Given the description of an element on the screen output the (x, y) to click on. 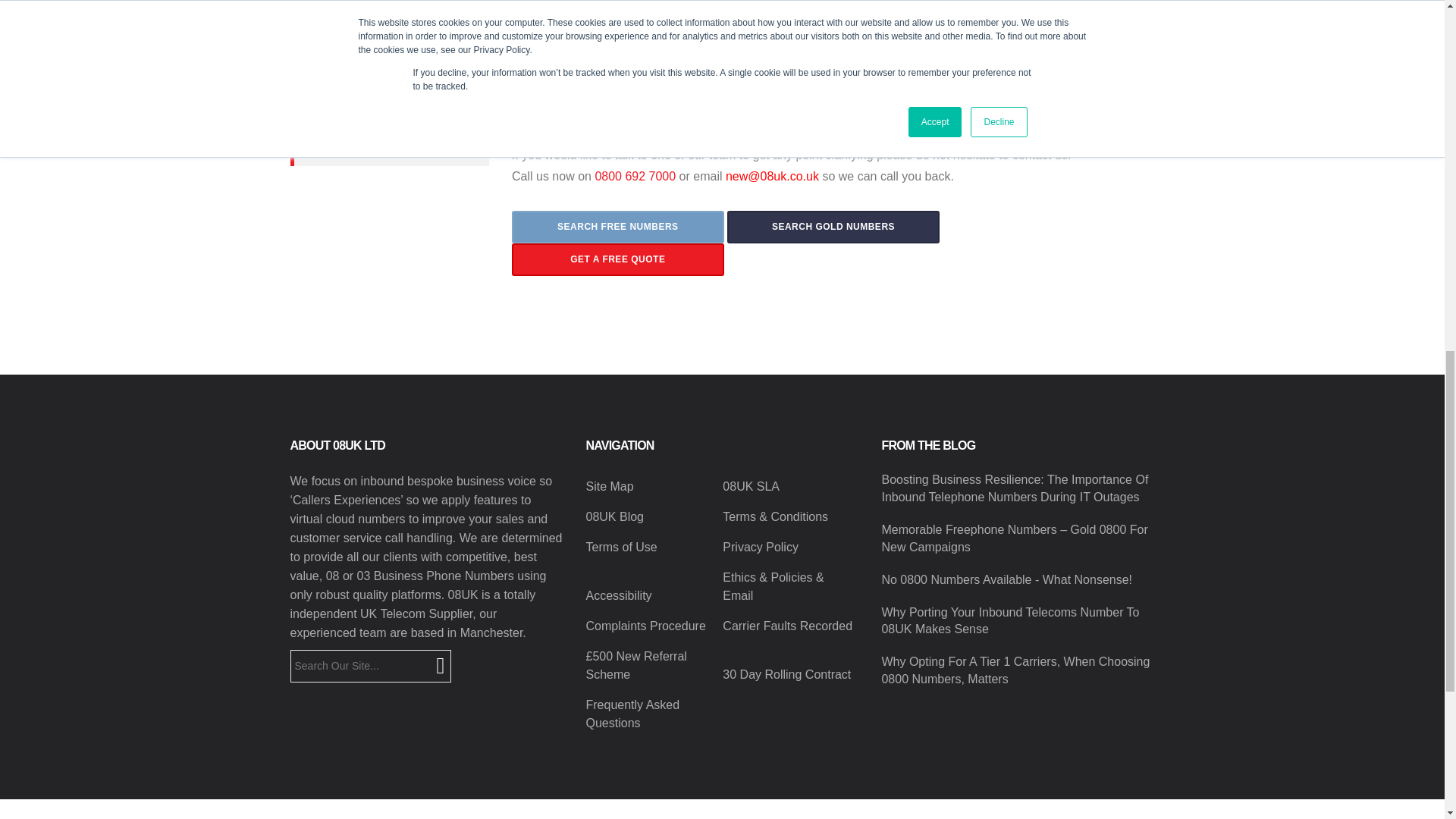
Search Our Site With A Keyword: (369, 666)
